Given the description of an element on the screen output the (x, y) to click on. 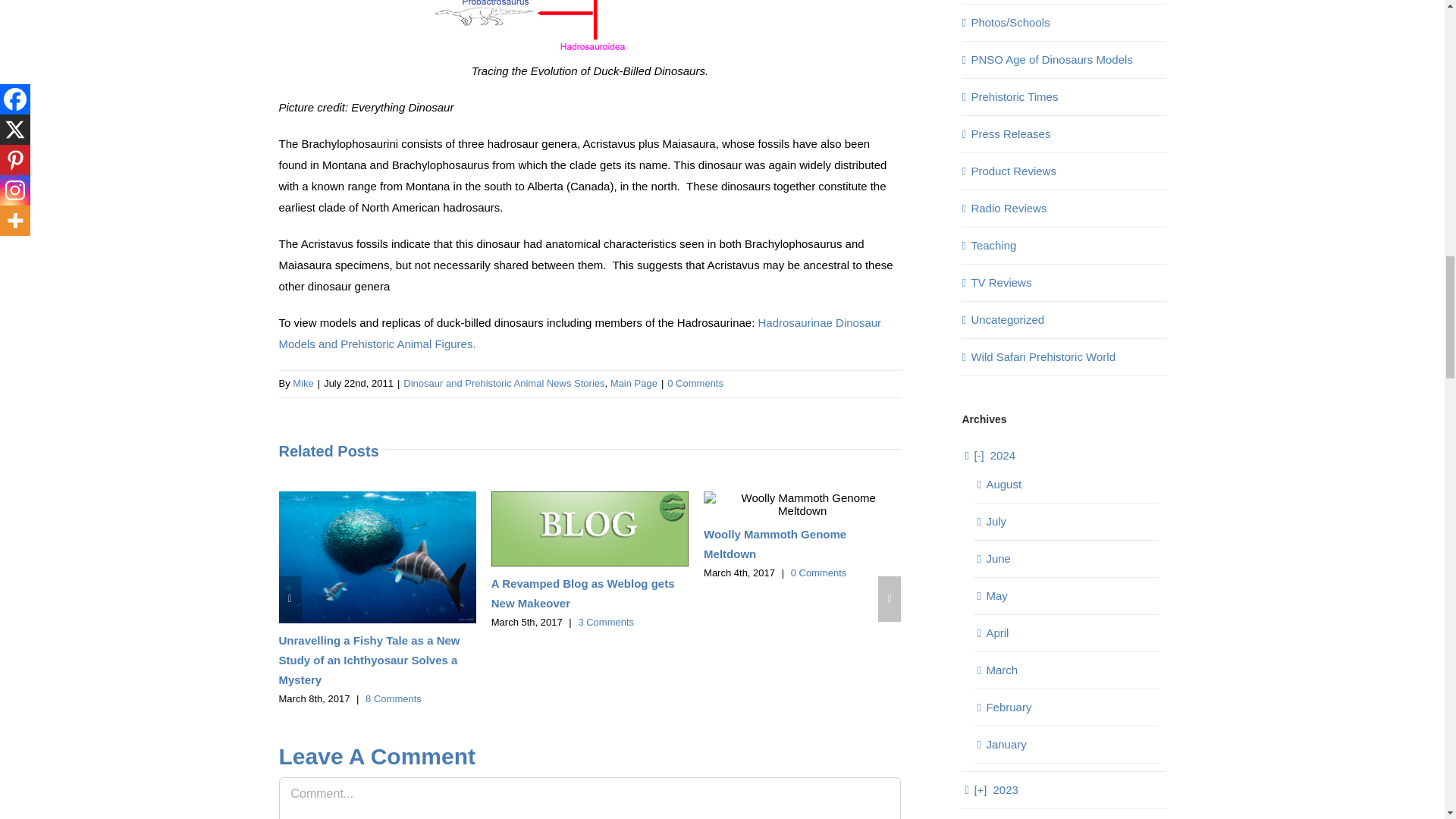
8 Comments (393, 698)
Woolly Mammoth Genome Meltdown (774, 543)
A Simplified Hadrosaur Family Tree (589, 30)
0 Comments (694, 383)
Main Page (634, 383)
A Revamped Blog as Weblog gets New Makeover (583, 593)
Dinosaur and Prehistoric Animal News Stories (503, 383)
